Given the description of an element on the screen output the (x, y) to click on. 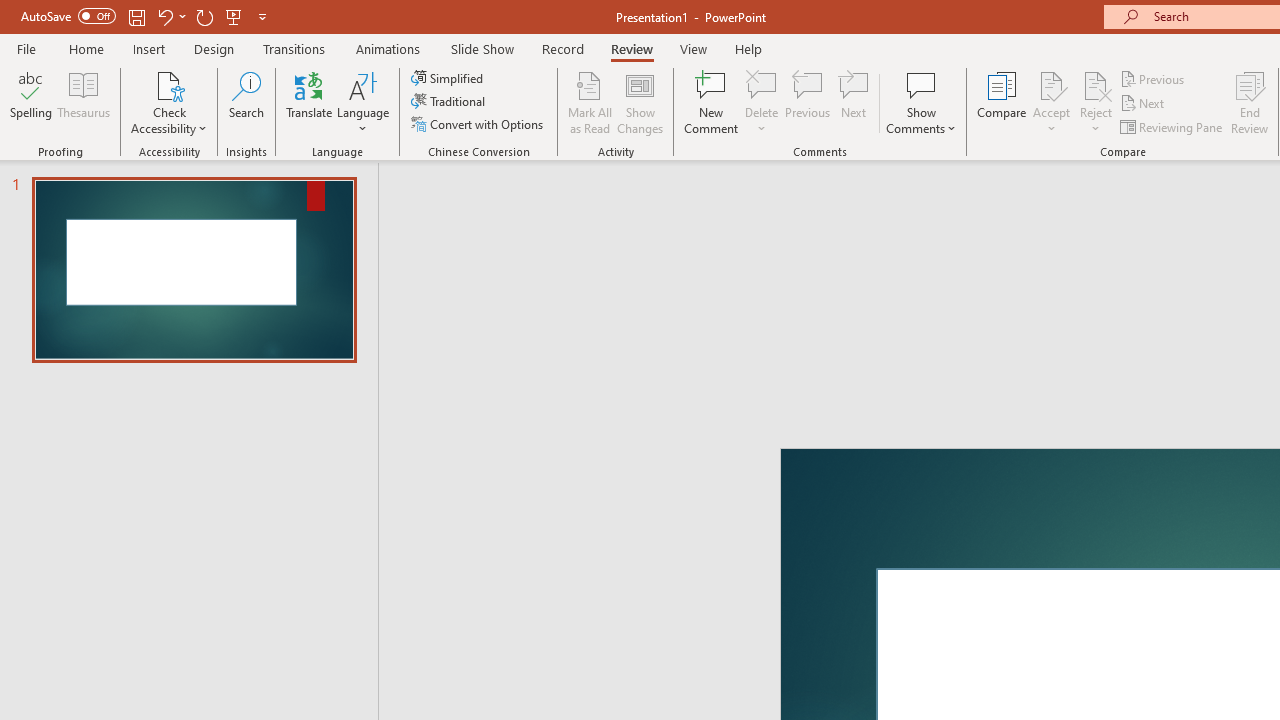
Delete (762, 102)
Check Accessibility (169, 84)
Spelling... (31, 102)
Reject Change (1096, 84)
Show Changes (639, 102)
New Comment (711, 102)
Thesaurus... (83, 102)
